Given the description of an element on the screen output the (x, y) to click on. 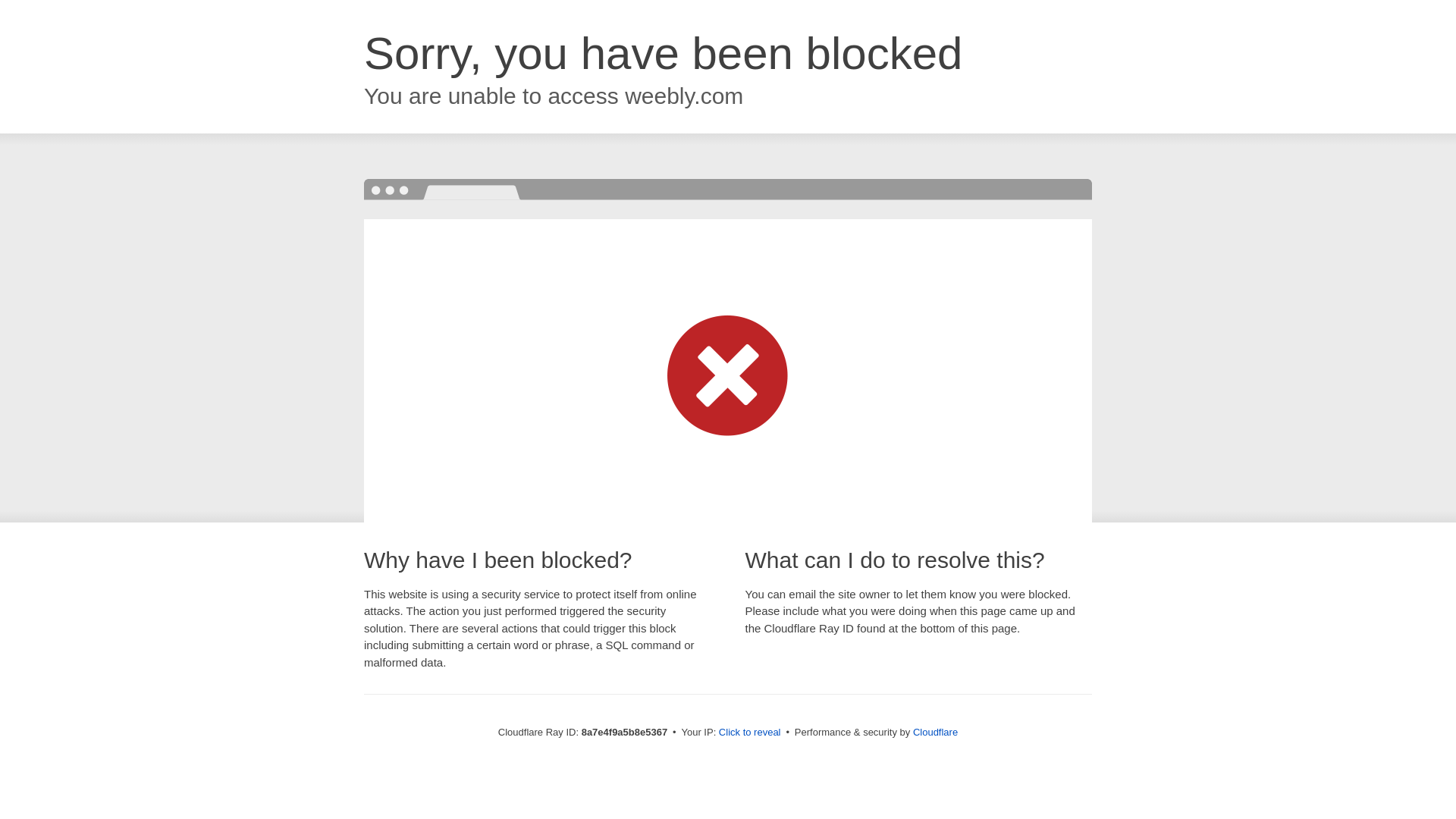
Cloudflare (935, 731)
Click to reveal (749, 732)
